Given the description of an element on the screen output the (x, y) to click on. 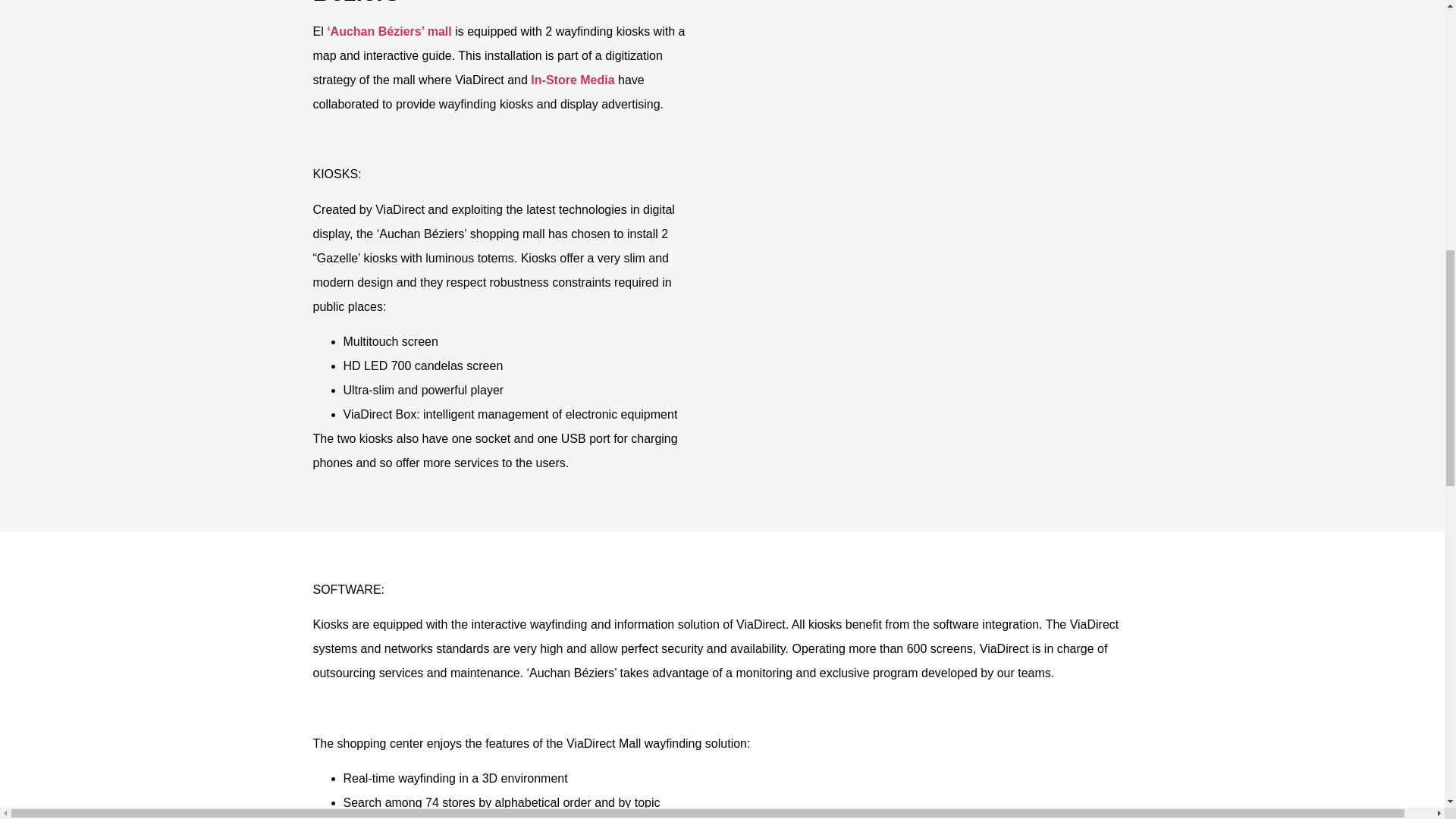
In-Store Media (572, 79)
